Given the description of an element on the screen output the (x, y) to click on. 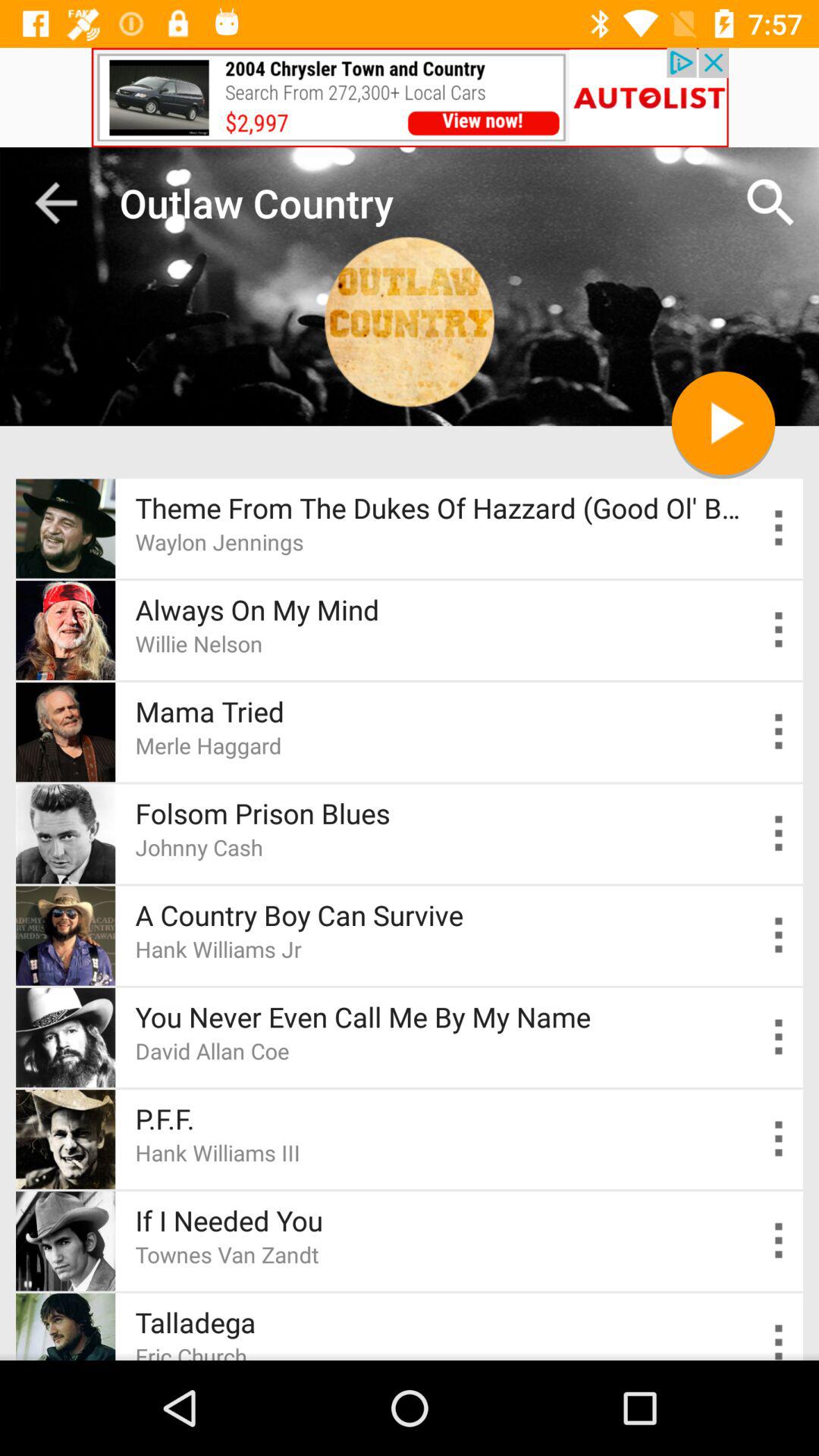
press for drop down box (779, 731)
